Given the description of an element on the screen output the (x, y) to click on. 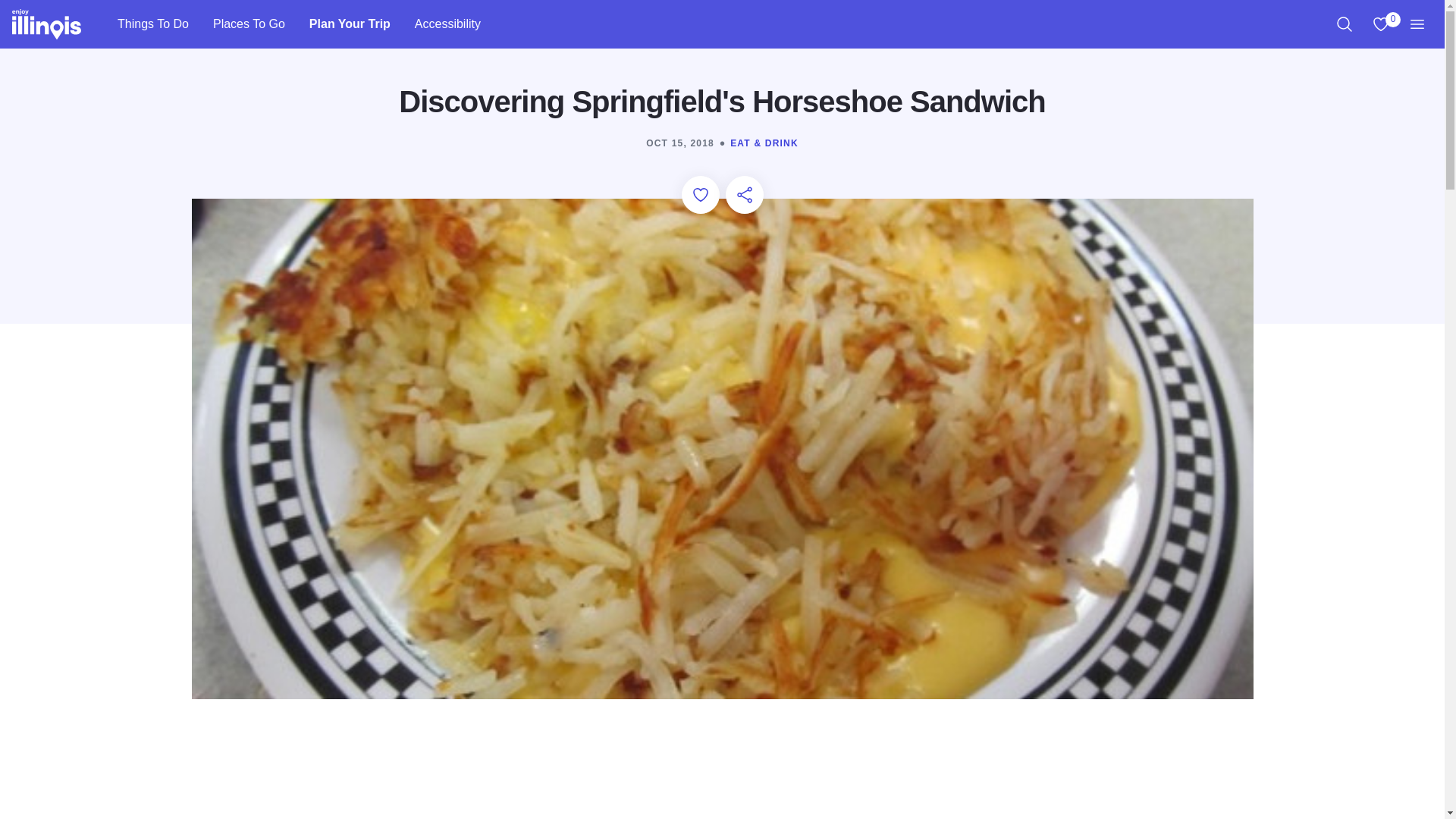
Accessibility (448, 24)
Places To Go (248, 24)
Plan Your Trip (1380, 24)
Things To Do (350, 24)
Search the Site (152, 24)
